Given the description of an element on the screen output the (x, y) to click on. 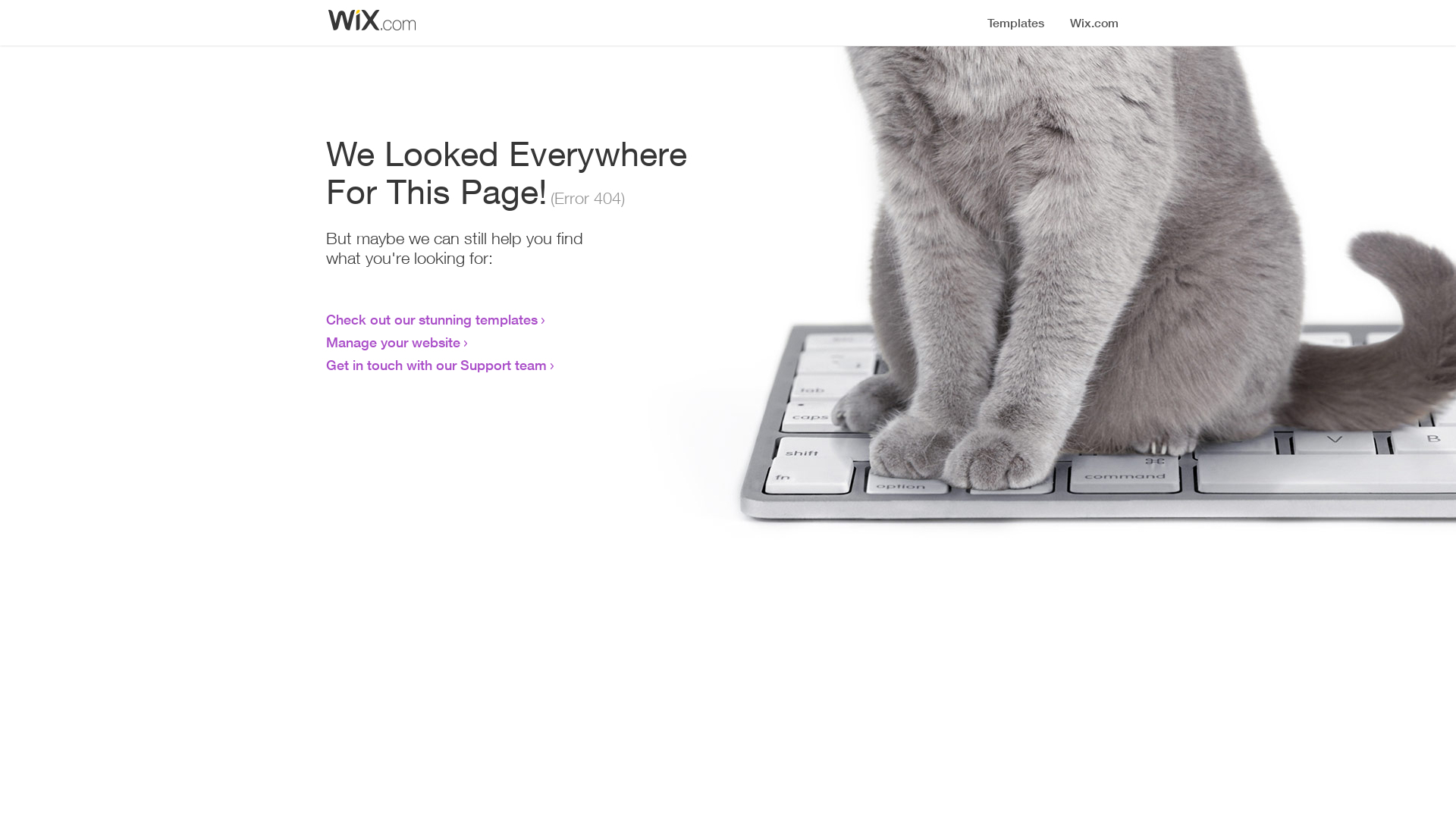
Manage your website Element type: text (393, 341)
Get in touch with our Support team Element type: text (436, 364)
Check out our stunning templates Element type: text (431, 318)
